Given the description of an element on the screen output the (x, y) to click on. 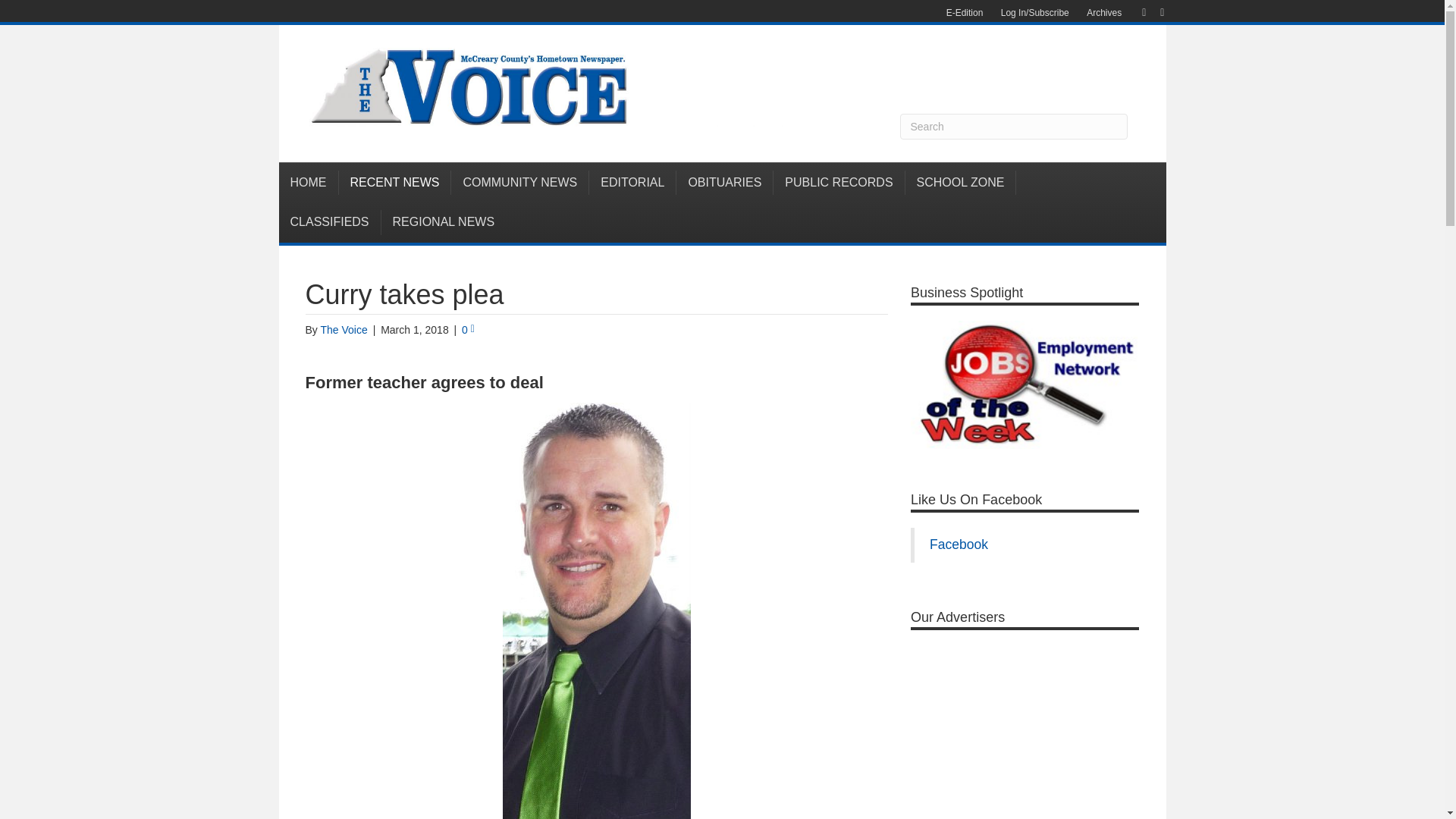
COMMUNITY NEWS (520, 182)
Facebook (1135, 11)
Type and press Enter to search. (1012, 126)
Email (1154, 11)
EDITORIAL (633, 182)
OBITUARIES (725, 182)
E-Edition (965, 13)
RECENT NEWS (394, 182)
Archives (1103, 13)
HOME (309, 182)
PUBLIC RECORDS (838, 182)
